Given the description of an element on the screen output the (x, y) to click on. 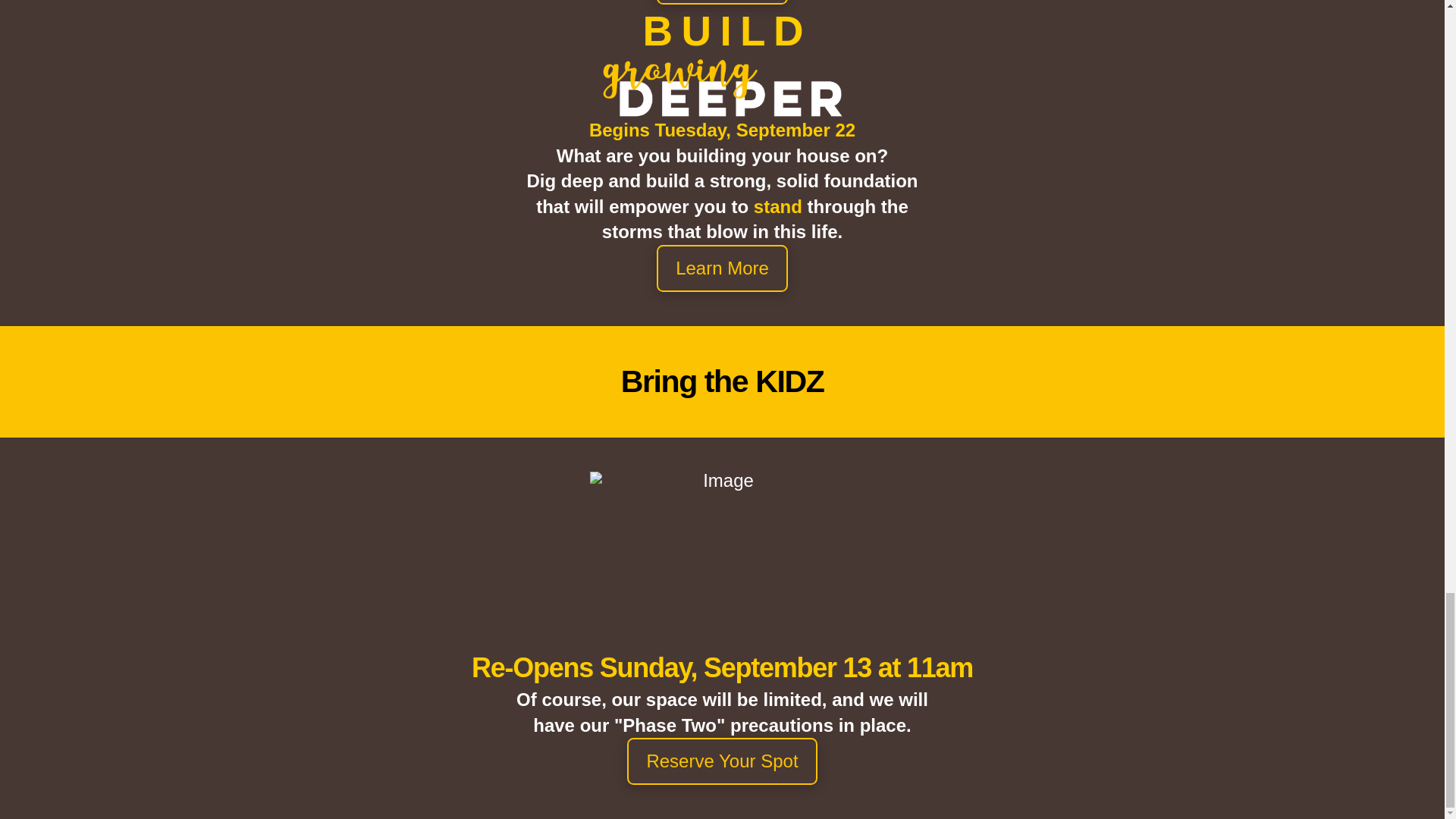
Reserve Your Spot (721, 760)
Learn More (721, 267)
Learn More (721, 2)
